Given the description of an element on the screen output the (x, y) to click on. 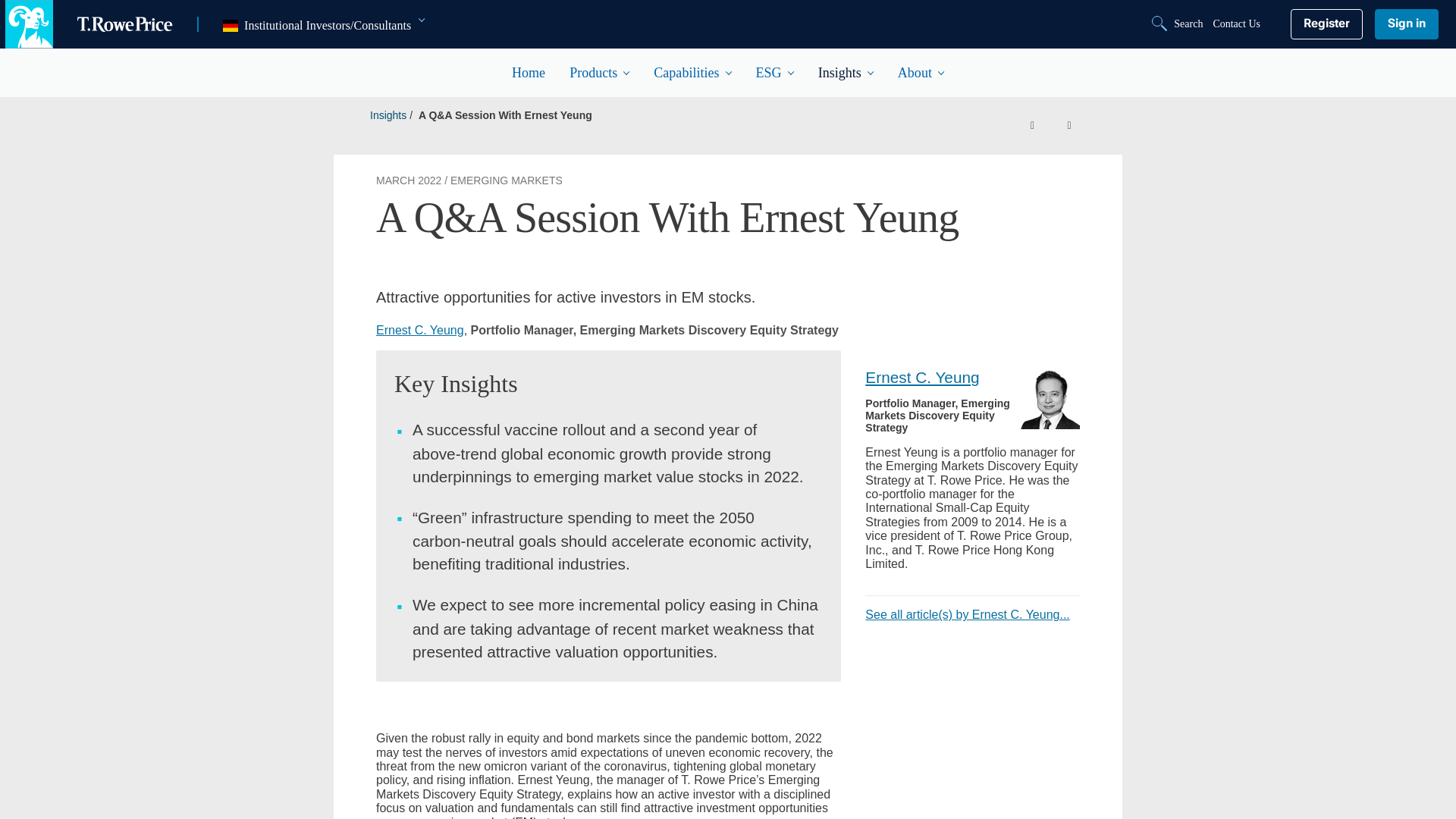
Contact Us (1236, 24)
Ernest C. Yeung (1049, 398)
Register (1326, 24)
Search (1179, 24)
Sign in (1406, 24)
